Given the description of an element on the screen output the (x, y) to click on. 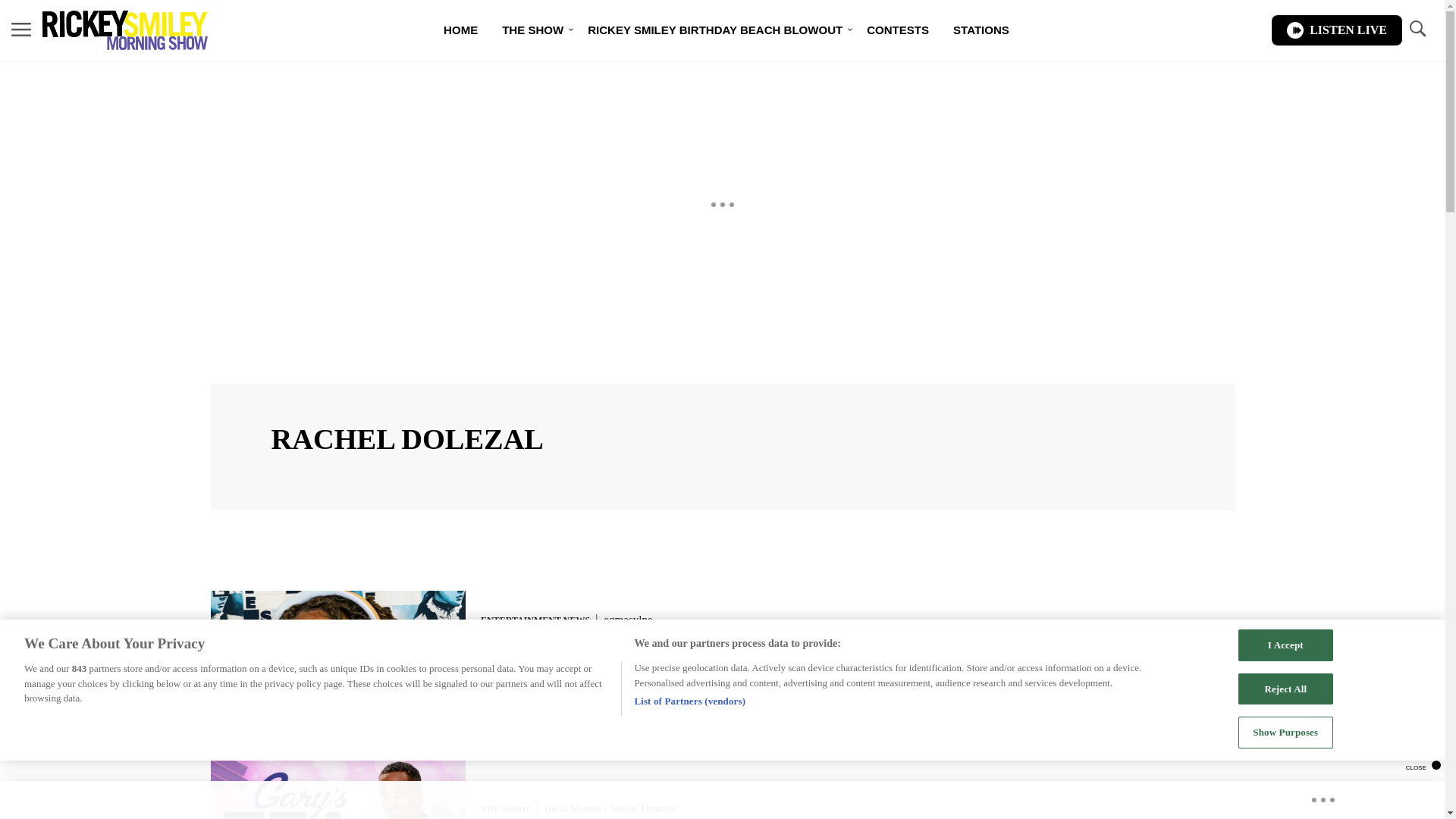
ENTERTAINMENT NEWS (534, 620)
Stations (981, 30)
egmasylne (628, 619)
THE SHOW (504, 808)
RICKEY SMILEY BIRTHDAY BEACH BLOWOUT (714, 30)
TOGGLE SEARCH (1417, 30)
MENU (20, 29)
MENU (20, 30)
CONTESTS (897, 30)
LISTEN LIVE (1336, 30)
TOGGLE SEARCH (1417, 28)
HOME (459, 30)
THE SHOW (532, 30)
STATIONS (981, 30)
